Given the description of an element on the screen output the (x, y) to click on. 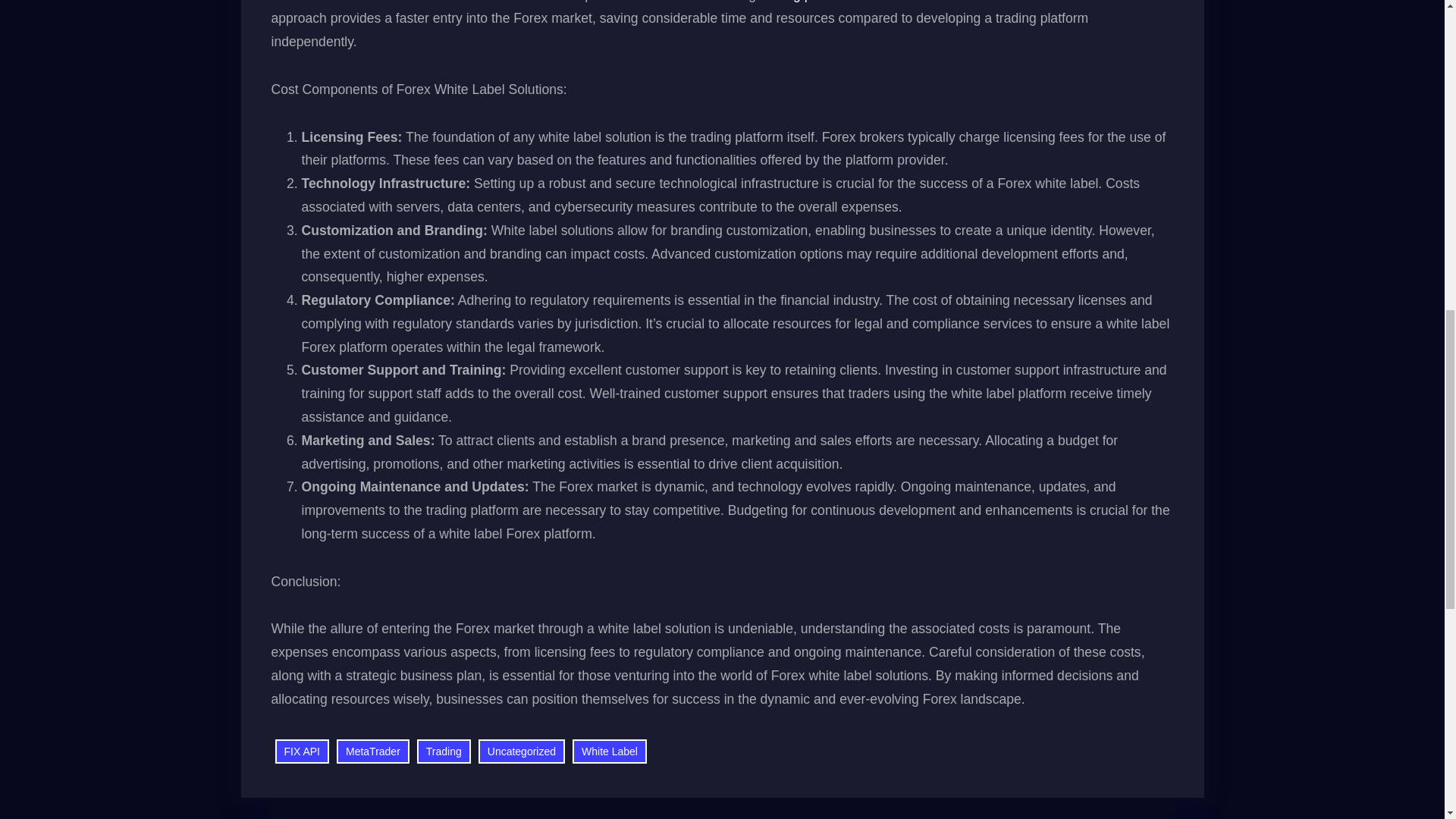
White Label (609, 751)
trading platform (805, 1)
MetaTrader (372, 751)
Trading (443, 751)
Uncategorized (521, 751)
trading platform (805, 1)
FIX API (302, 751)
